Given the description of an element on the screen output the (x, y) to click on. 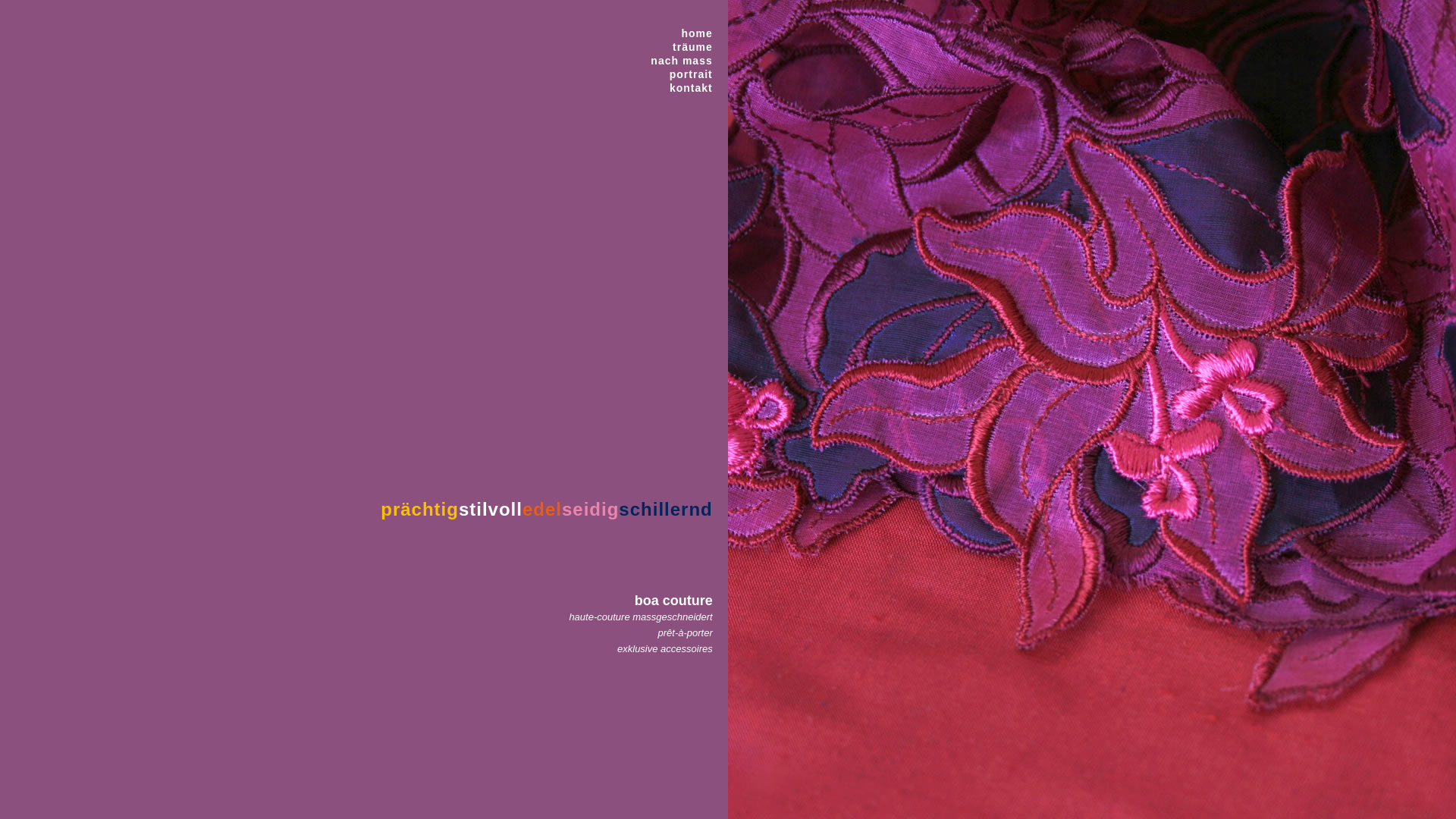
home Element type: text (681, 33)
nach mass Element type: text (681, 60)
kontakt Element type: text (681, 87)
portrait Element type: text (681, 74)
